Given the description of an element on the screen output the (x, y) to click on. 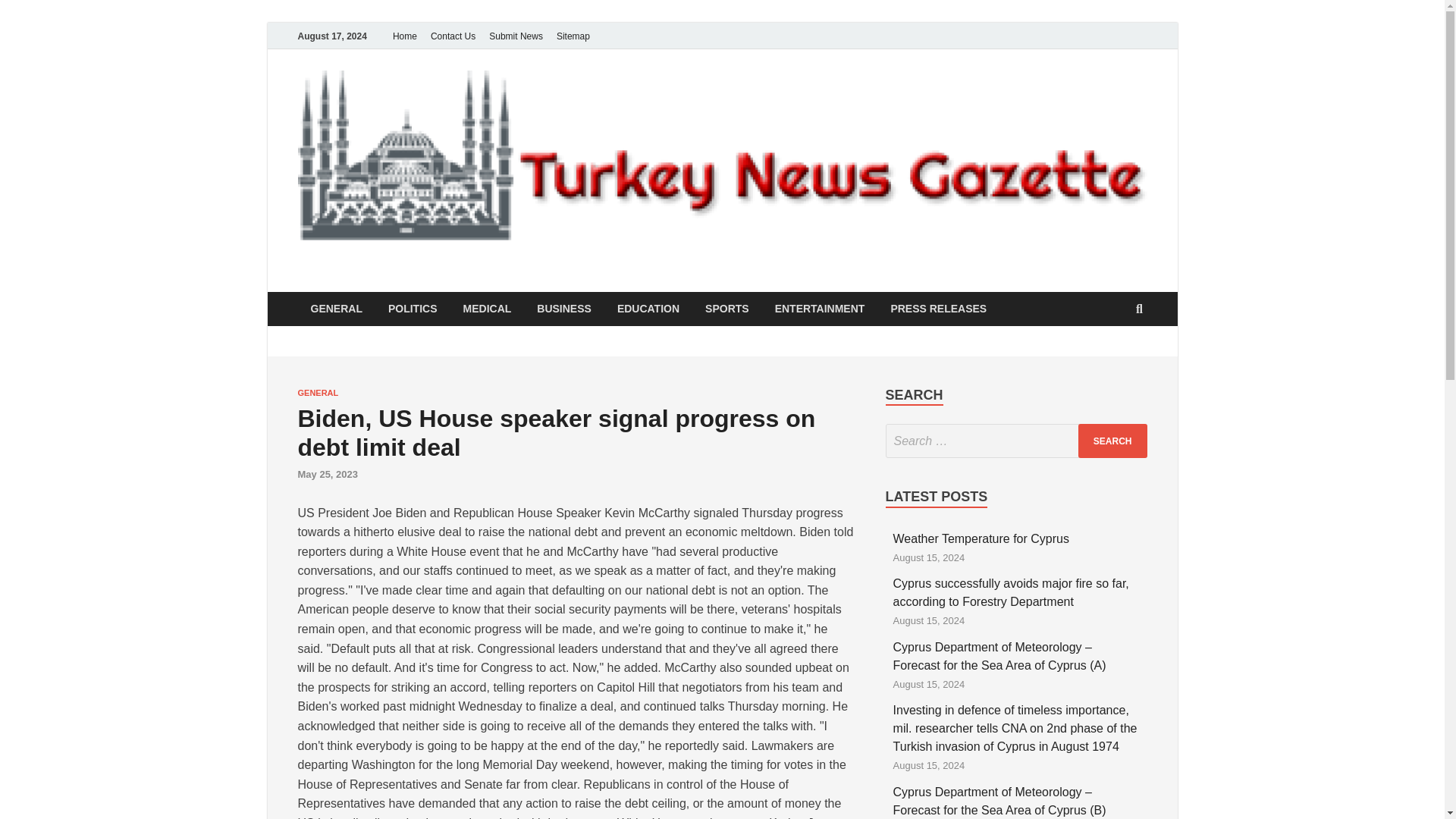
Turkey News Gazette (444, 283)
PRESS RELEASES (937, 308)
EDUCATION (648, 308)
May 25, 2023 (327, 473)
POLITICS (412, 308)
Search (1112, 440)
GENERAL (317, 392)
Search (1112, 440)
Contact Us (452, 35)
ENTERTAINMENT (819, 308)
